Given the description of an element on the screen output the (x, y) to click on. 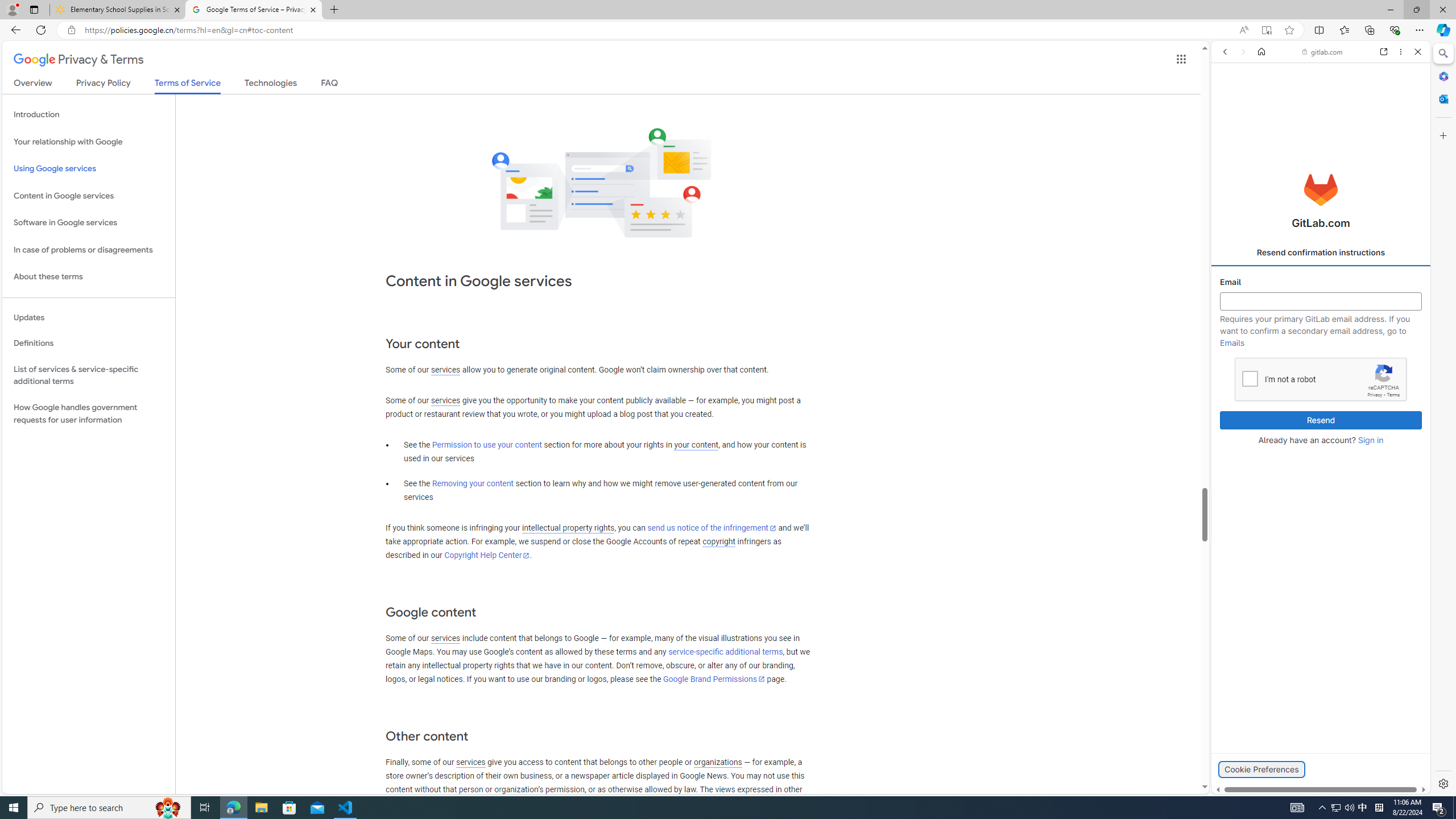
Terms (1393, 394)
Cookie Preferences (1261, 769)
gitlab.com (1323, 51)
Resend confirmation instructions (1321, 252)
GitLab.com (1321, 189)
